Given the description of an element on the screen output the (x, y) to click on. 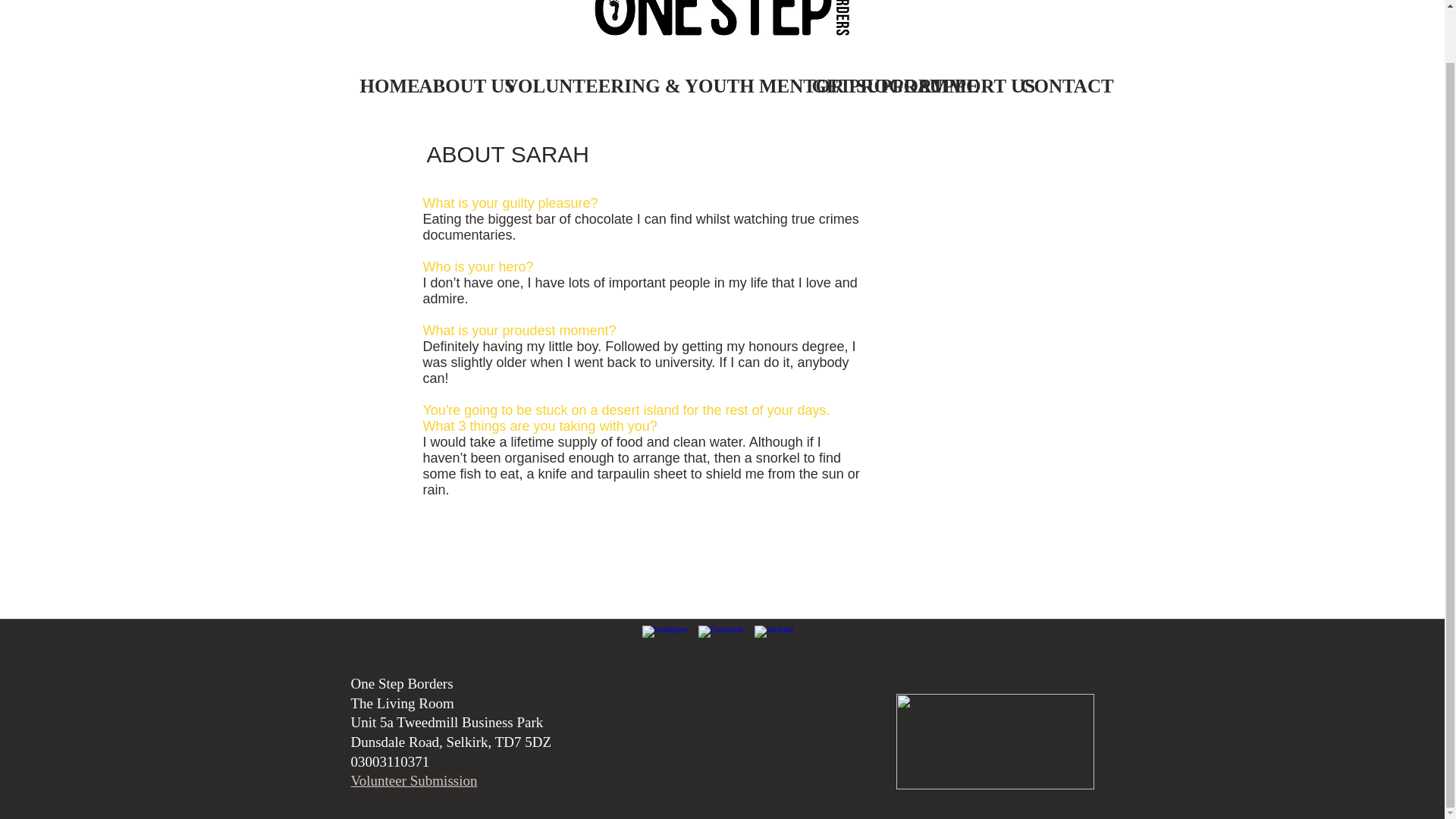
BACP Registered Member.png (995, 741)
ABOUT US (453, 86)
HOME (381, 86)
Volunteer Submission (413, 780)
CONTACT (1052, 86)
SUPPORT US (962, 86)
GET SUPPORT (857, 86)
